Given the description of an element on the screen output the (x, y) to click on. 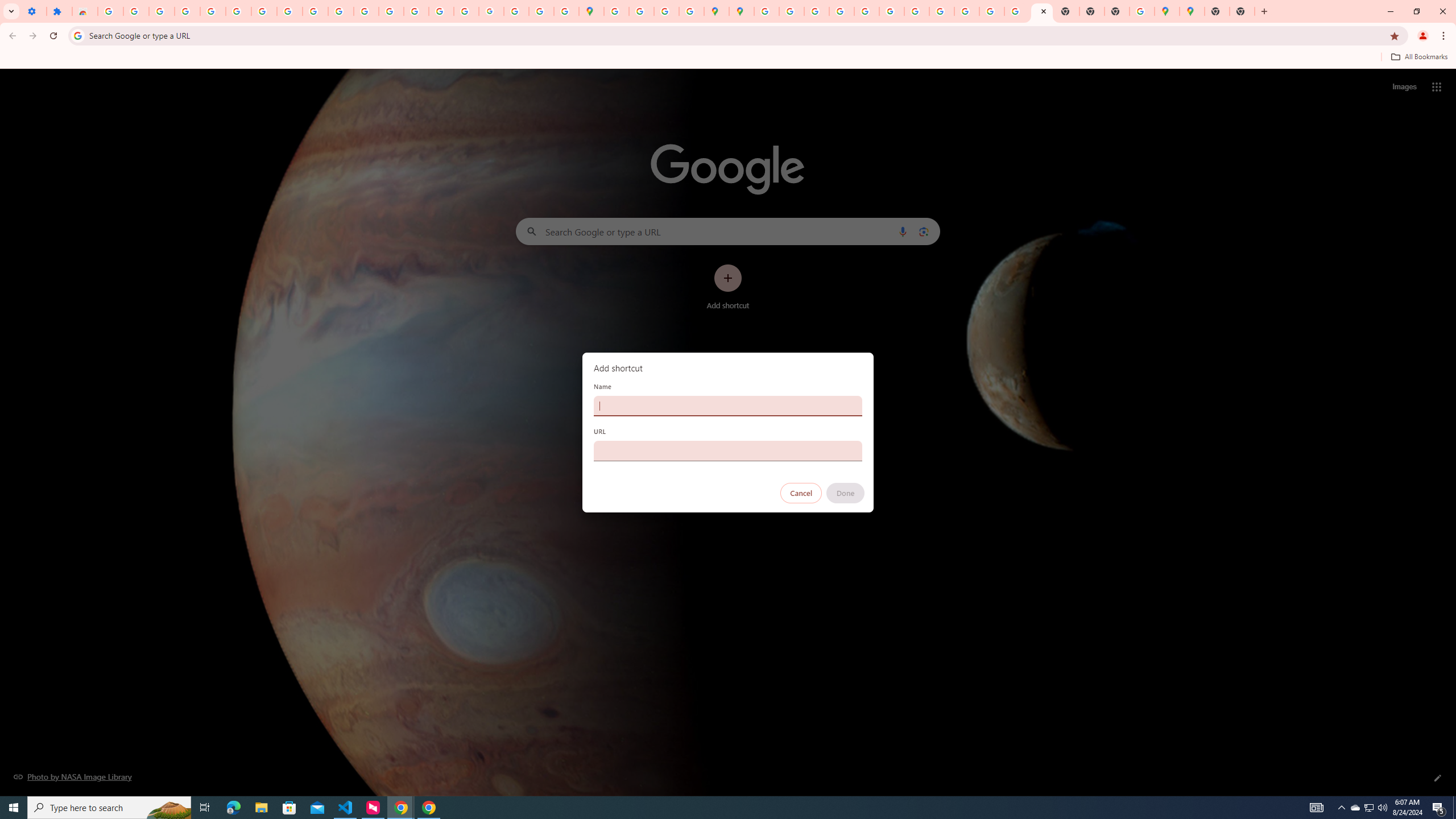
Create your Google Account (666, 11)
New Tab (1216, 11)
Cancel (801, 493)
Sign in - Google Accounts (213, 11)
Google Maps (590, 11)
Privacy Help Center - Policies Help (816, 11)
YouTube (916, 11)
URL (727, 450)
